Given the description of an element on the screen output the (x, y) to click on. 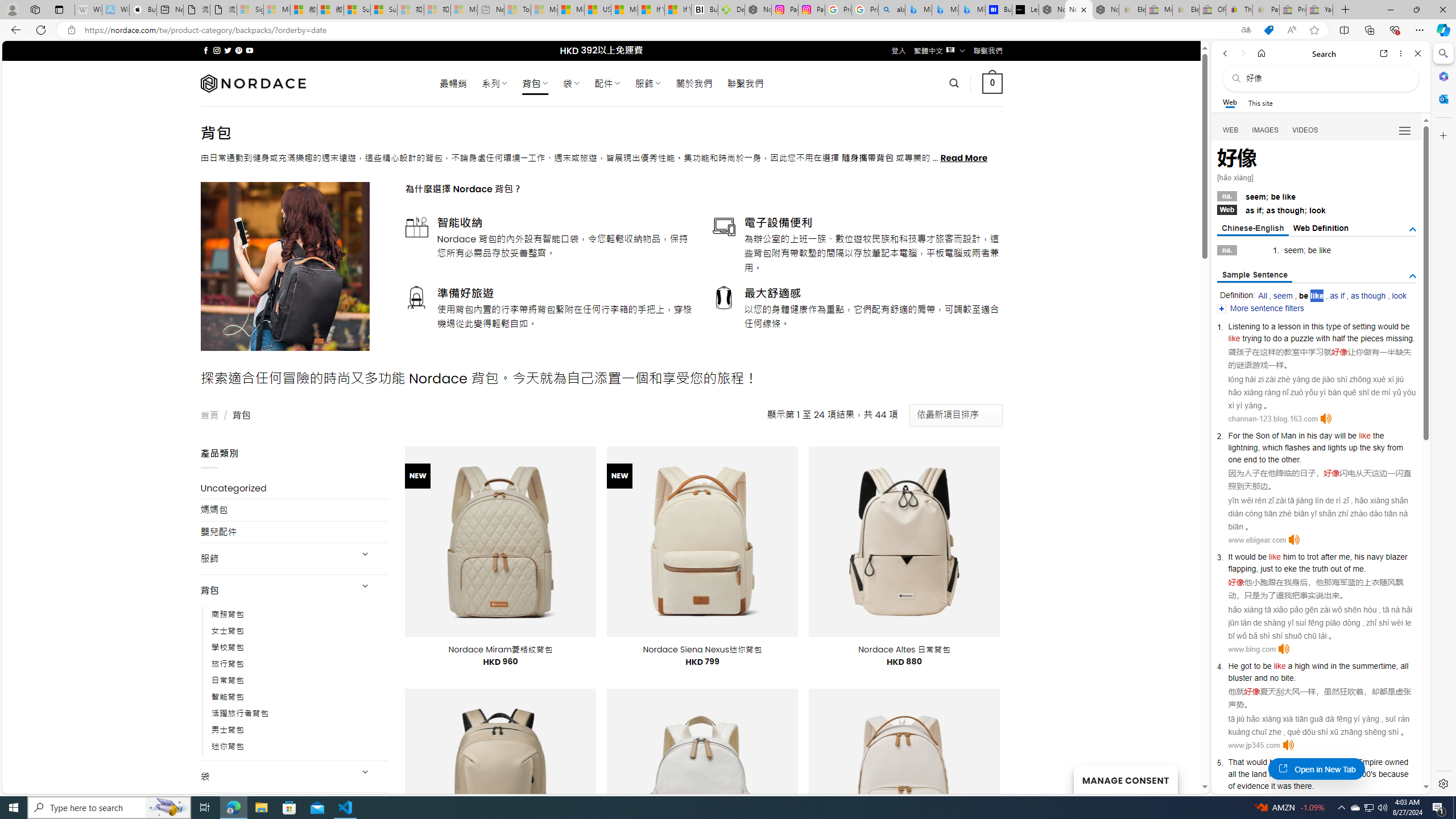
as (1270, 209)
owned (1396, 761)
Buy iPad - Apple (143, 9)
Read More (964, 157)
Chinese-English (1252, 228)
in (1314, 773)
day (1325, 435)
do (1276, 338)
